Given the description of an element on the screen output the (x, y) to click on. 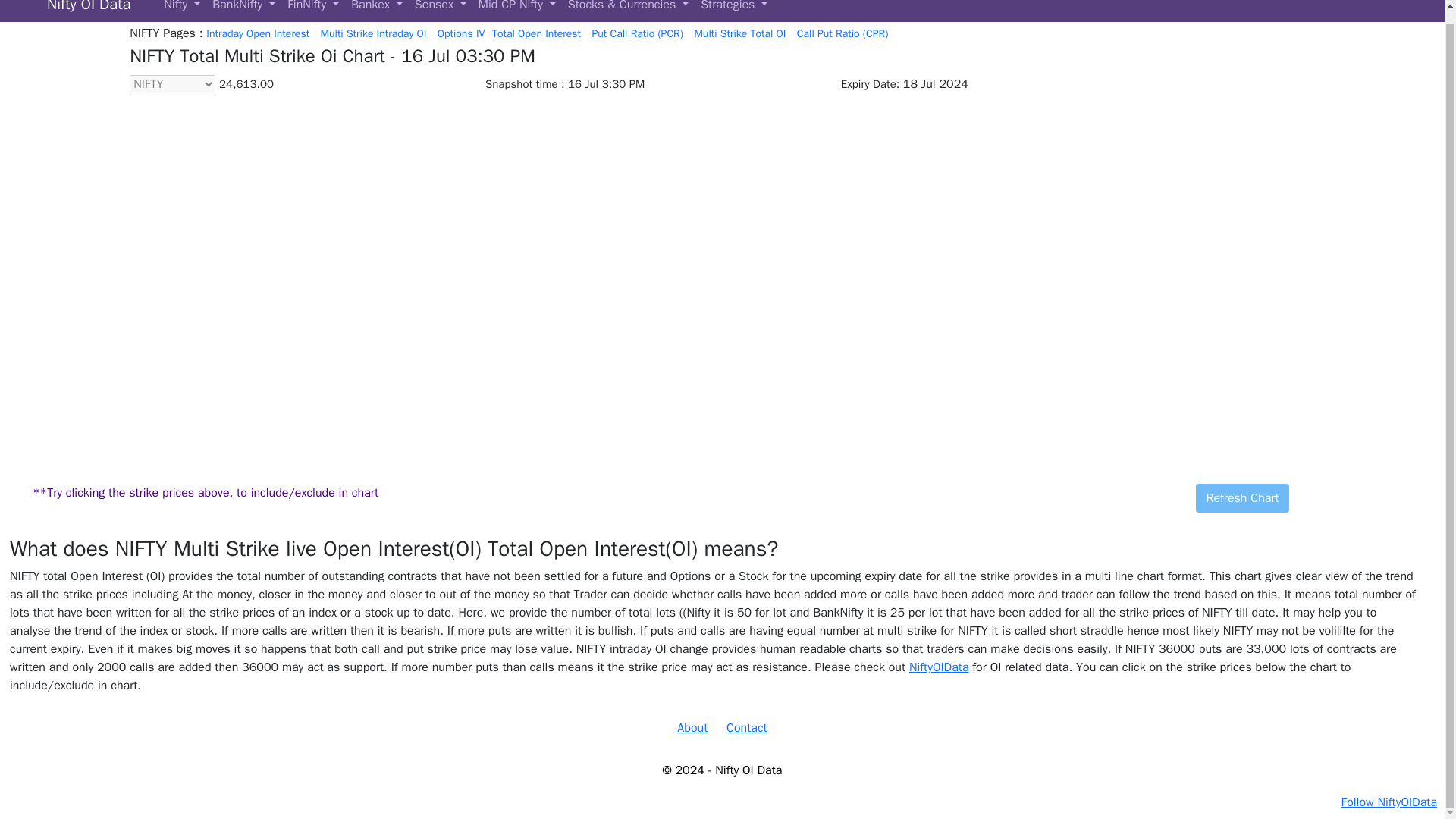
Nifty (181, 9)
Nifty OI Data (88, 9)
Sensex (440, 9)
FinNifty (313, 9)
BankNifty (243, 9)
Bankex (377, 9)
